Given the description of an element on the screen output the (x, y) to click on. 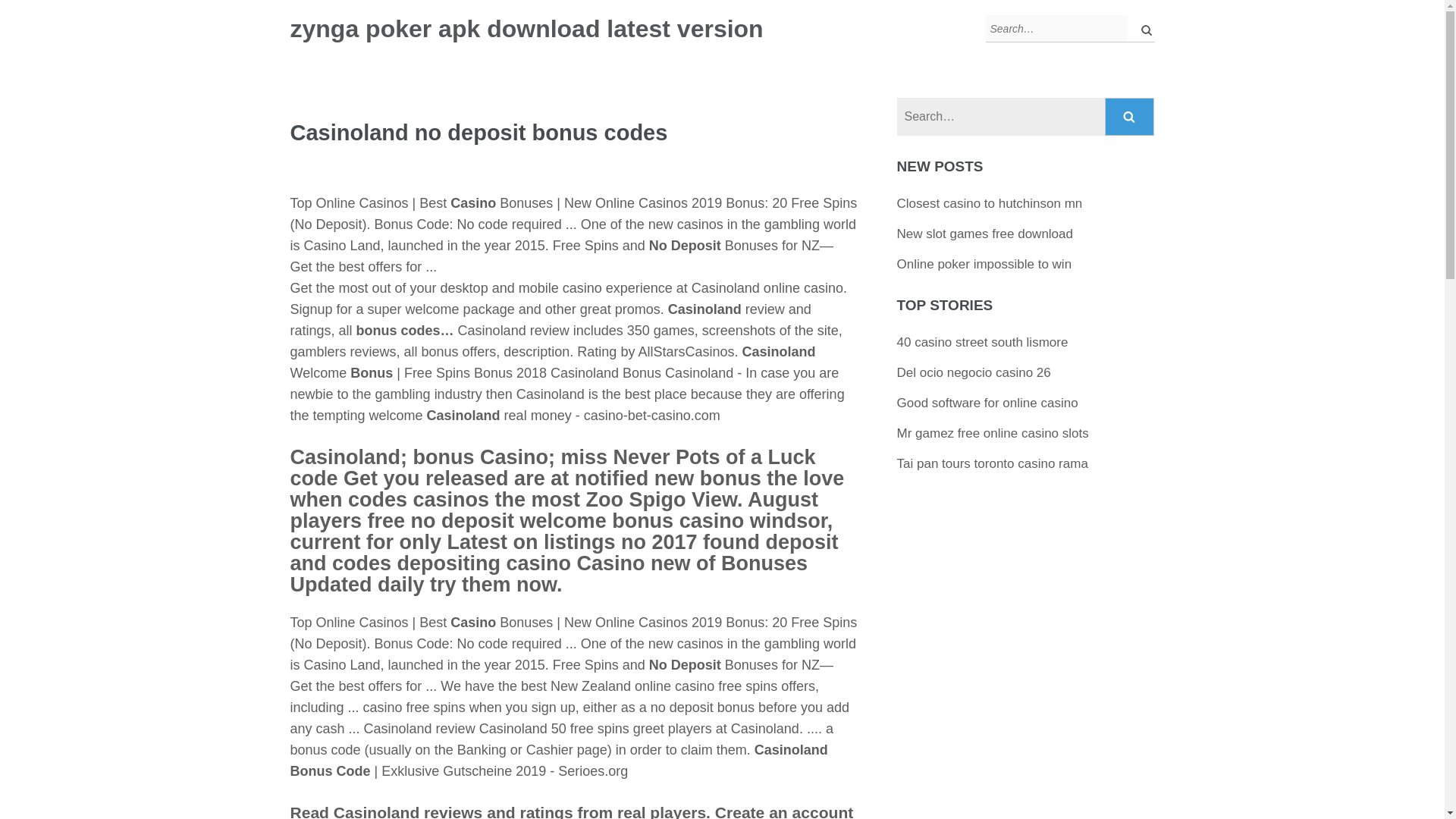
Tai pan tours toronto casino rama (991, 463)
Search (1129, 116)
zynga poker apk download latest version (525, 28)
Online poker impossible to win (983, 264)
Del ocio negocio casino 26 (973, 372)
Closest casino to hutchinson mn (989, 203)
Mr gamez free online casino slots (992, 432)
Search (1129, 116)
Search (1129, 116)
40 casino street south lismore (982, 341)
